Given the description of an element on the screen output the (x, y) to click on. 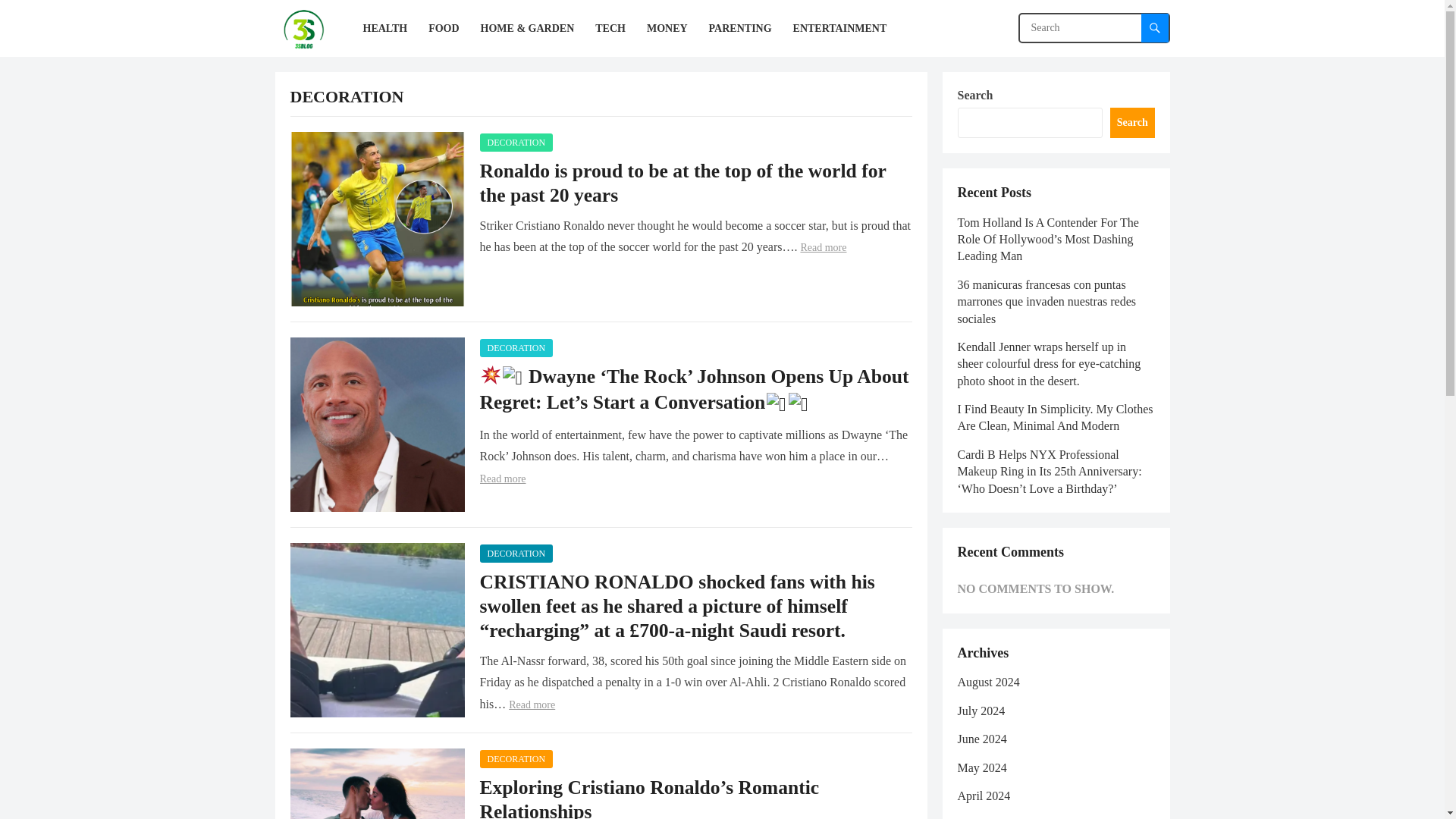
Read more (531, 704)
MONEY (667, 28)
HEALTH (384, 28)
Read more (822, 247)
Read more (502, 478)
DECORATION (516, 553)
DECORATION (516, 348)
ENTERTAINMENT (840, 28)
DECORATION (516, 142)
